Given the description of an element on the screen output the (x, y) to click on. 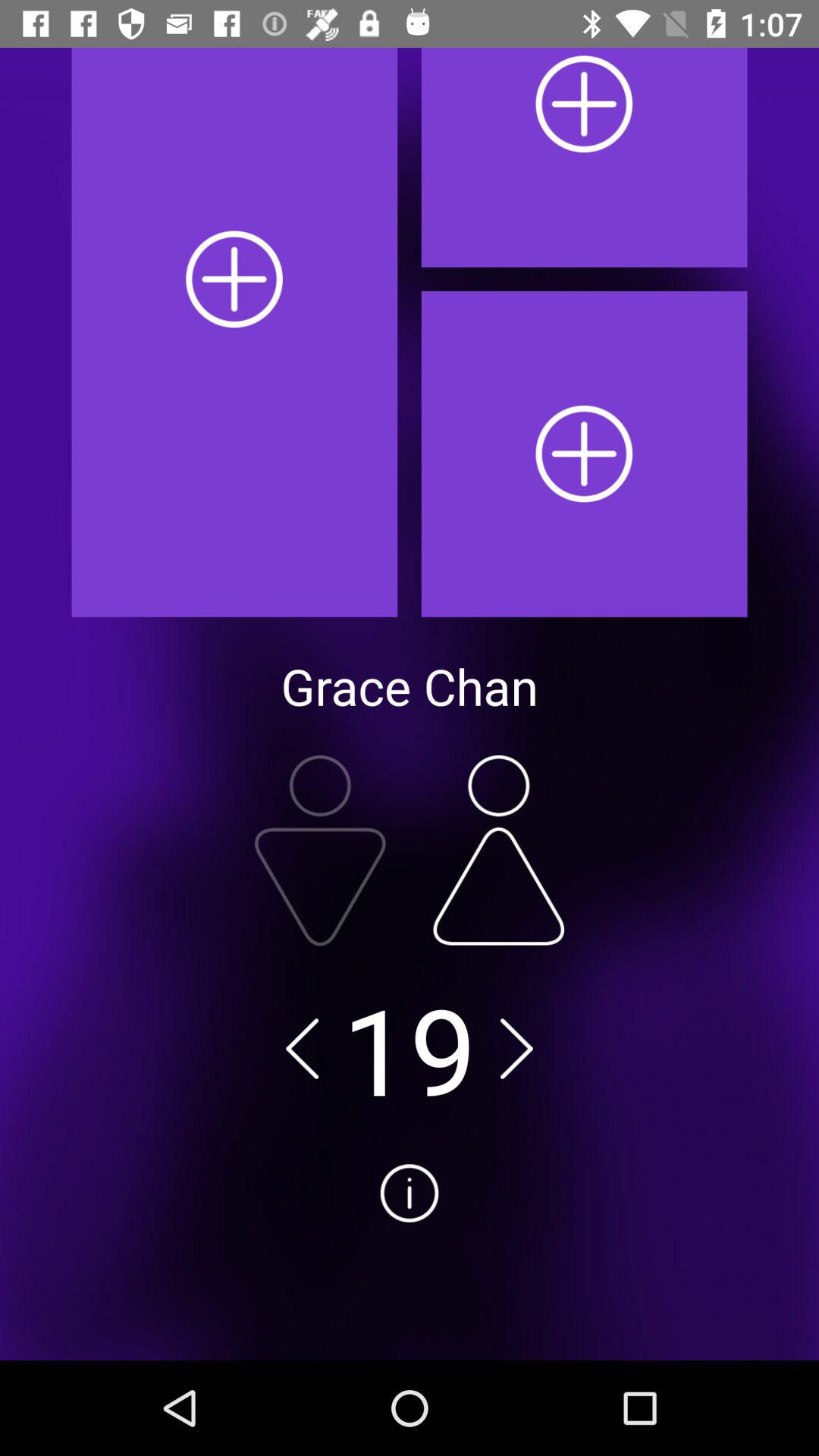
female (498, 850)
